Given the description of an element on the screen output the (x, y) to click on. 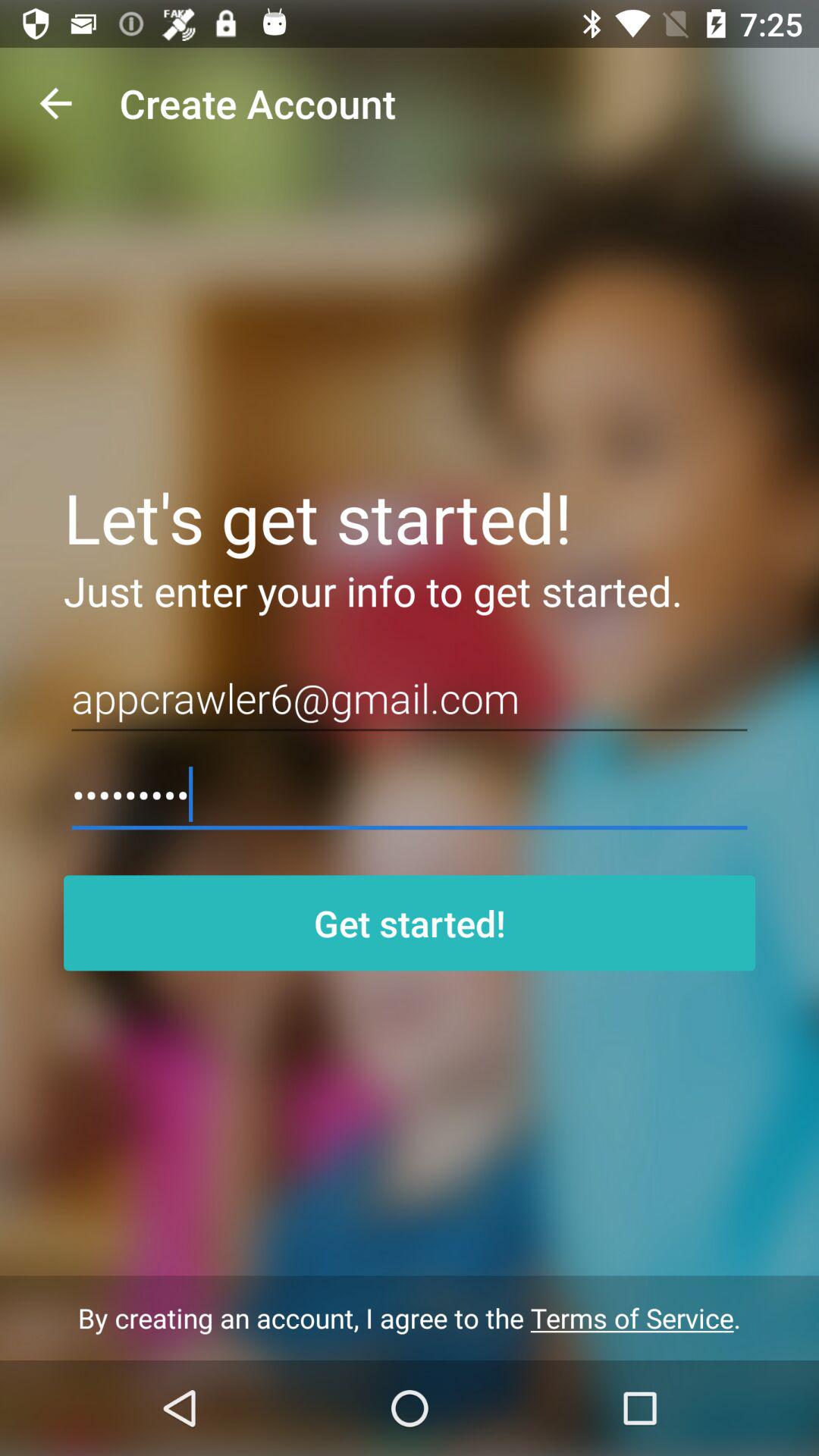
tap item below the just enter your icon (409, 698)
